Given the description of an element on the screen output the (x, y) to click on. 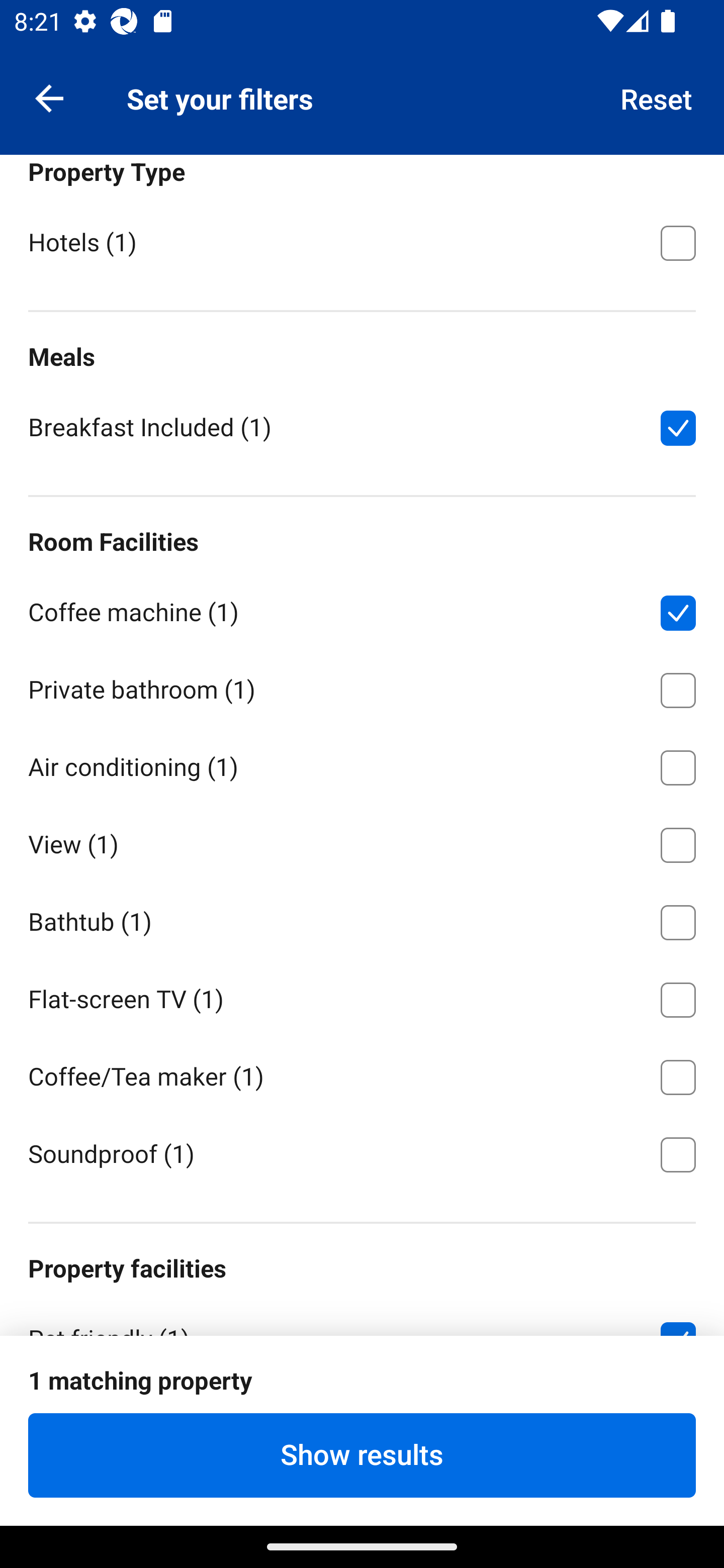
Navigate up (49, 97)
Reset (656, 97)
Hotels ⁦(1) (361, 241)
Breakfast Included ⁦(1) (361, 426)
Coffee machine ⁦(1) (361, 608)
Private bathroom ⁦(1) (361, 686)
Air conditioning ⁦(1) (361, 763)
View ⁦(1) (361, 841)
Bathtub ⁦(1) (361, 919)
Flat-screen TV ⁦(1) (361, 996)
Coffee/Tea maker ⁦(1) (361, 1073)
Soundproof ⁦(1) (361, 1153)
Show results (361, 1454)
